Given the description of an element on the screen output the (x, y) to click on. 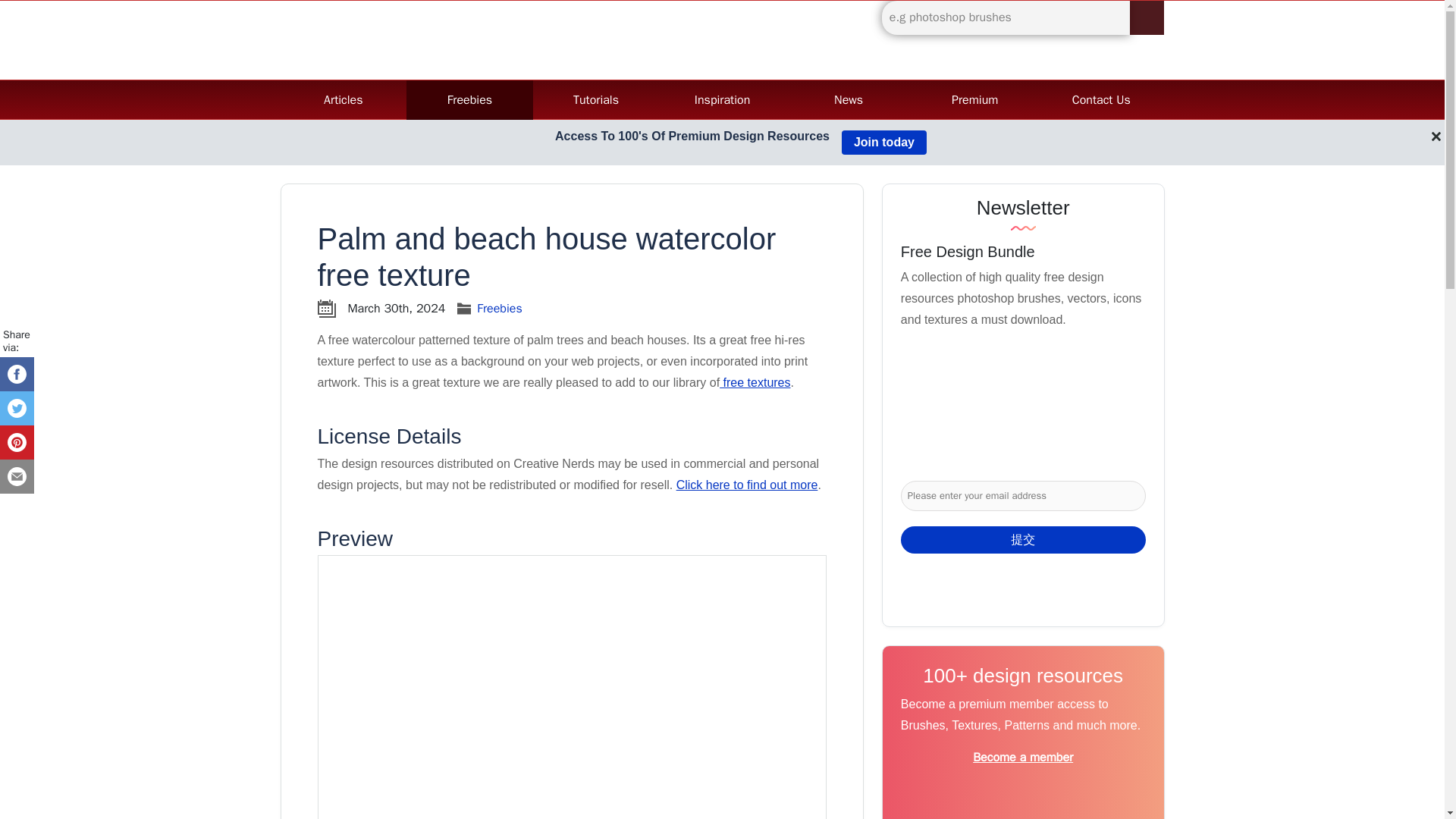
Inspiration (721, 99)
Join today (883, 142)
Freebies (469, 99)
CREATIVE NERDS (376, 38)
Access To 100's Of Premium Design Resources (692, 142)
Tutorials (595, 99)
Premium (974, 99)
News (848, 99)
Contact Us (1101, 99)
Articles (342, 99)
